Given the description of an element on the screen output the (x, y) to click on. 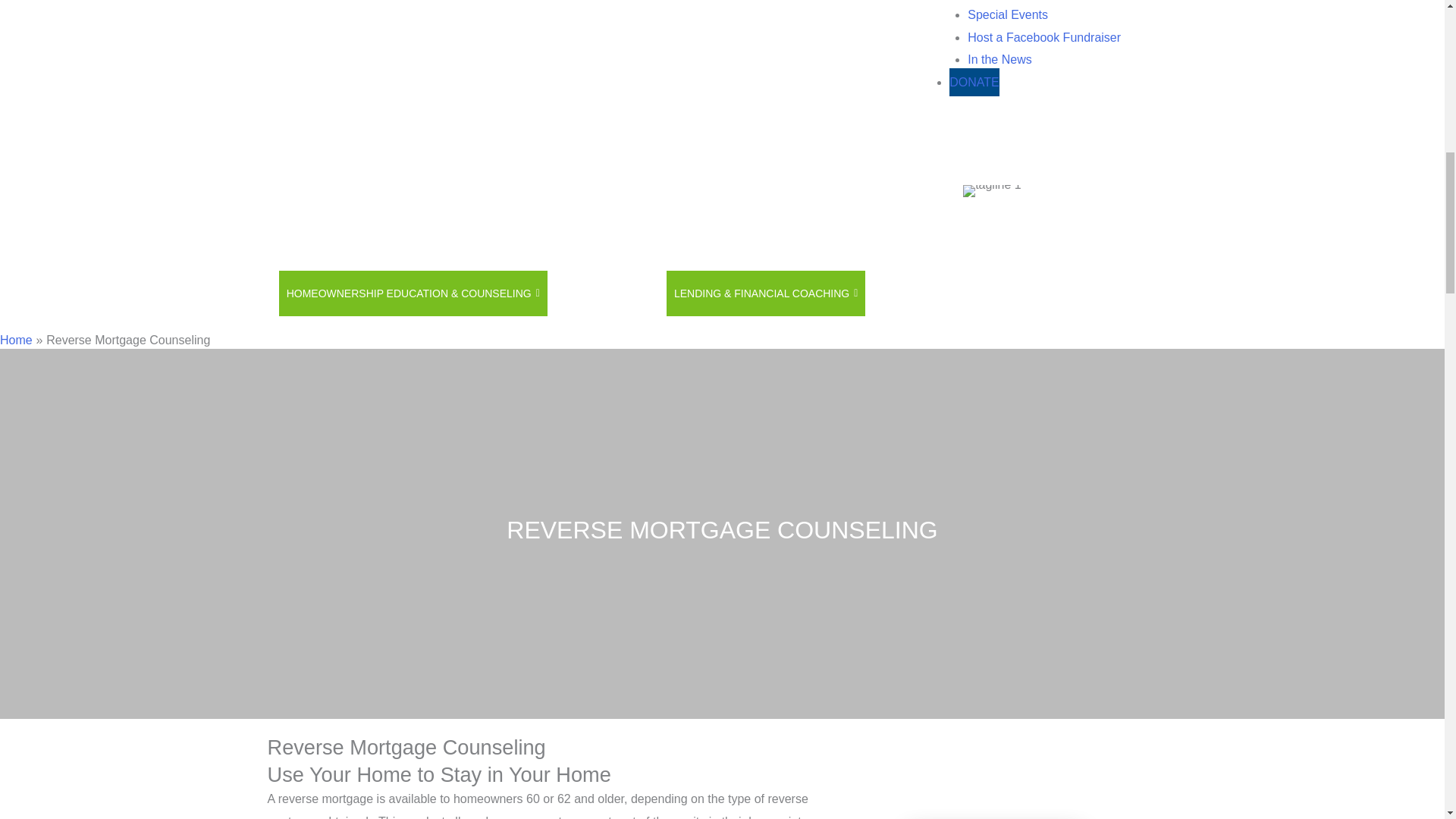
Special Events (1008, 14)
DONATE (973, 81)
Host a Facebook Fundraiser (1044, 37)
tagline (992, 191)
NW HS blue (380, 191)
In the News (999, 59)
